Given the description of an element on the screen output the (x, y) to click on. 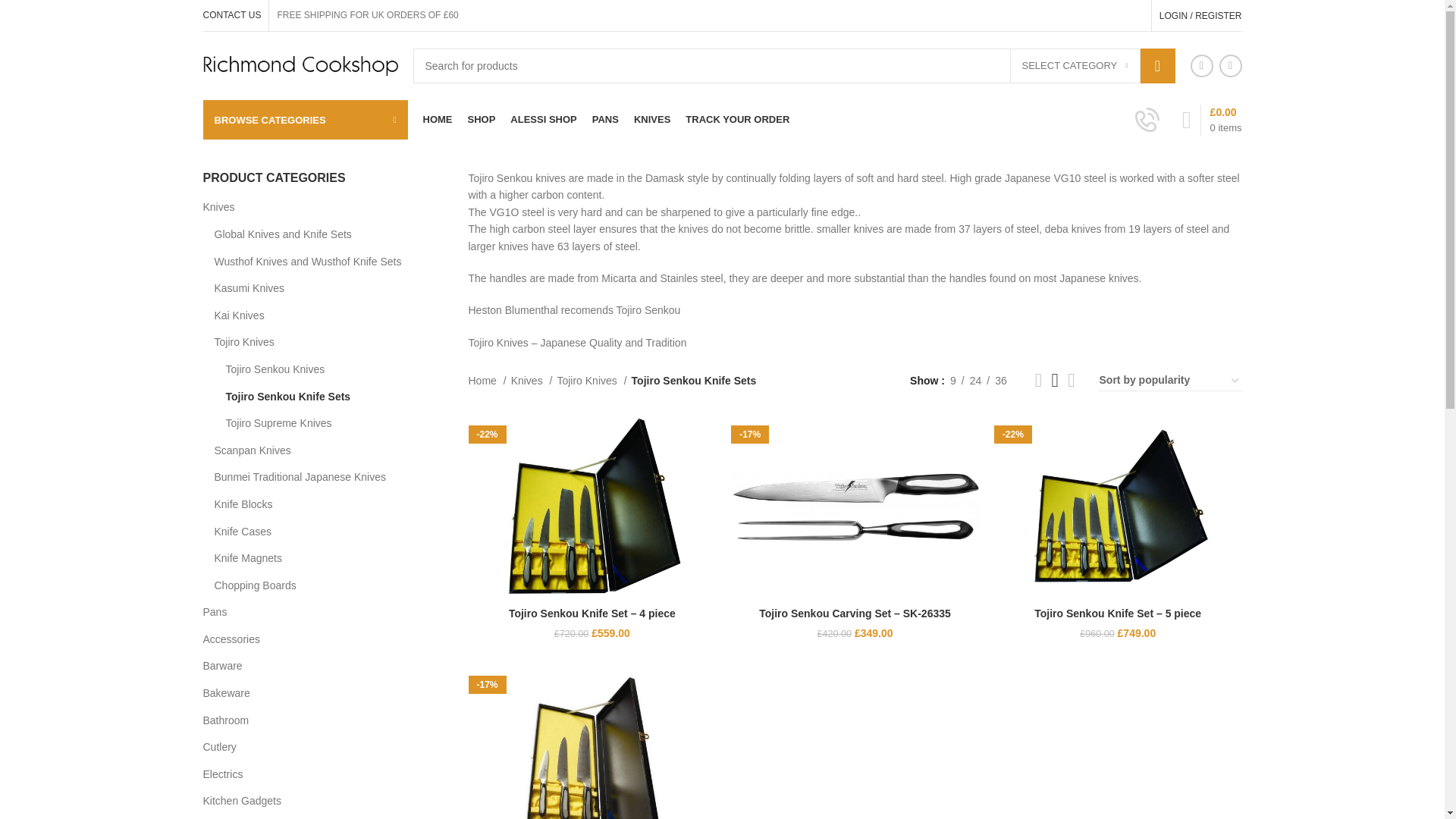
SELECT CATEGORY (1075, 65)
Search for products (793, 65)
SELECT CATEGORY (1075, 65)
Shopping cart (1211, 119)
My account (1200, 15)
CONTACT US (232, 15)
